Given the description of an element on the screen output the (x, y) to click on. 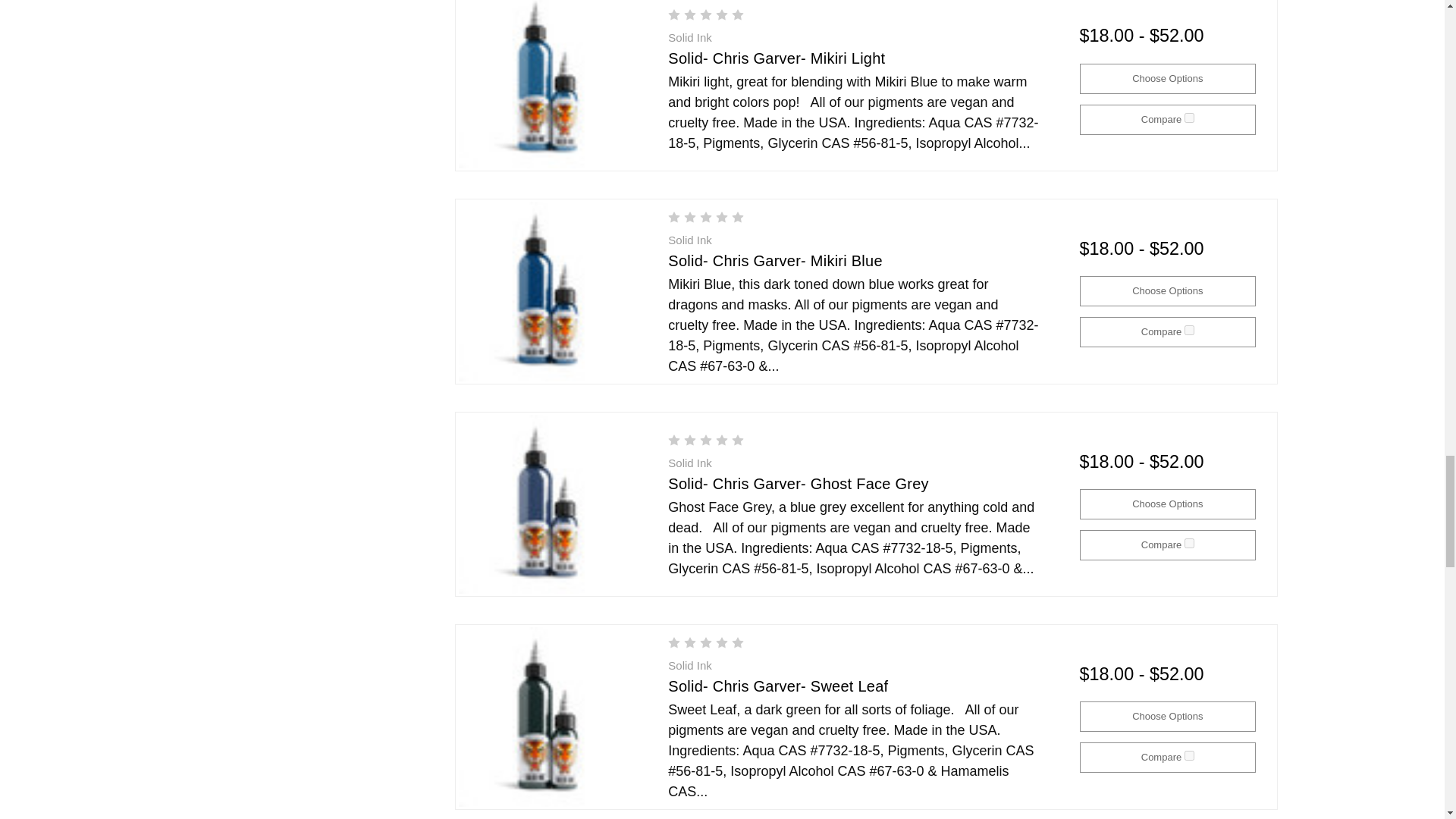
3157 (1189, 329)
3156 (1189, 542)
3158 (1189, 117)
3155 (1189, 755)
